Given the description of an element on the screen output the (x, y) to click on. 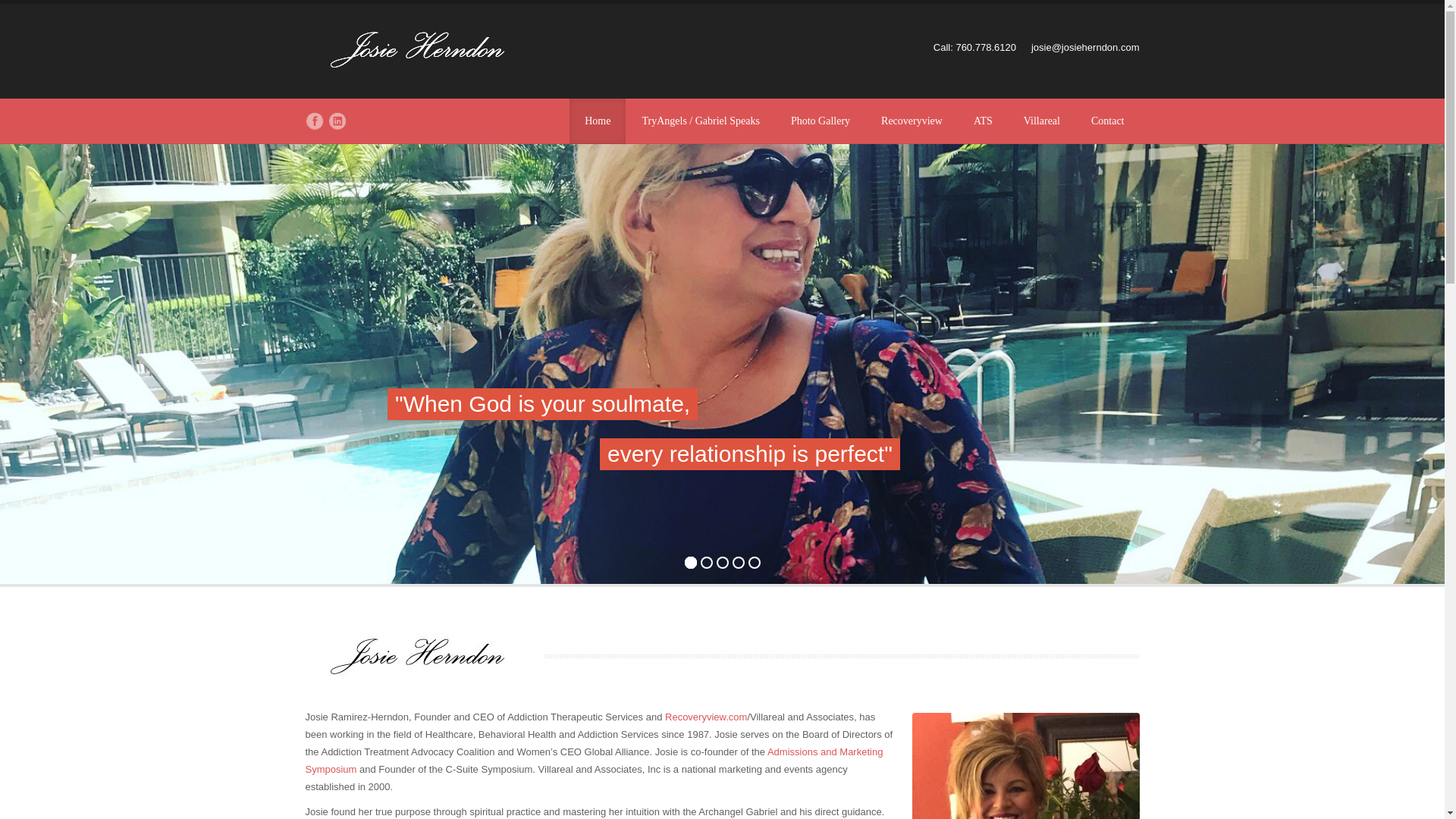
Recoveryview (911, 121)
Admissions and Marketing Symposium (593, 760)
LinkedIn (336, 121)
Photo Gallery (820, 121)
Facebook (313, 121)
Recoveryview.com (705, 716)
Call: 760.778.6120 (974, 47)
Villareal (1041, 121)
